Given the description of an element on the screen output the (x, y) to click on. 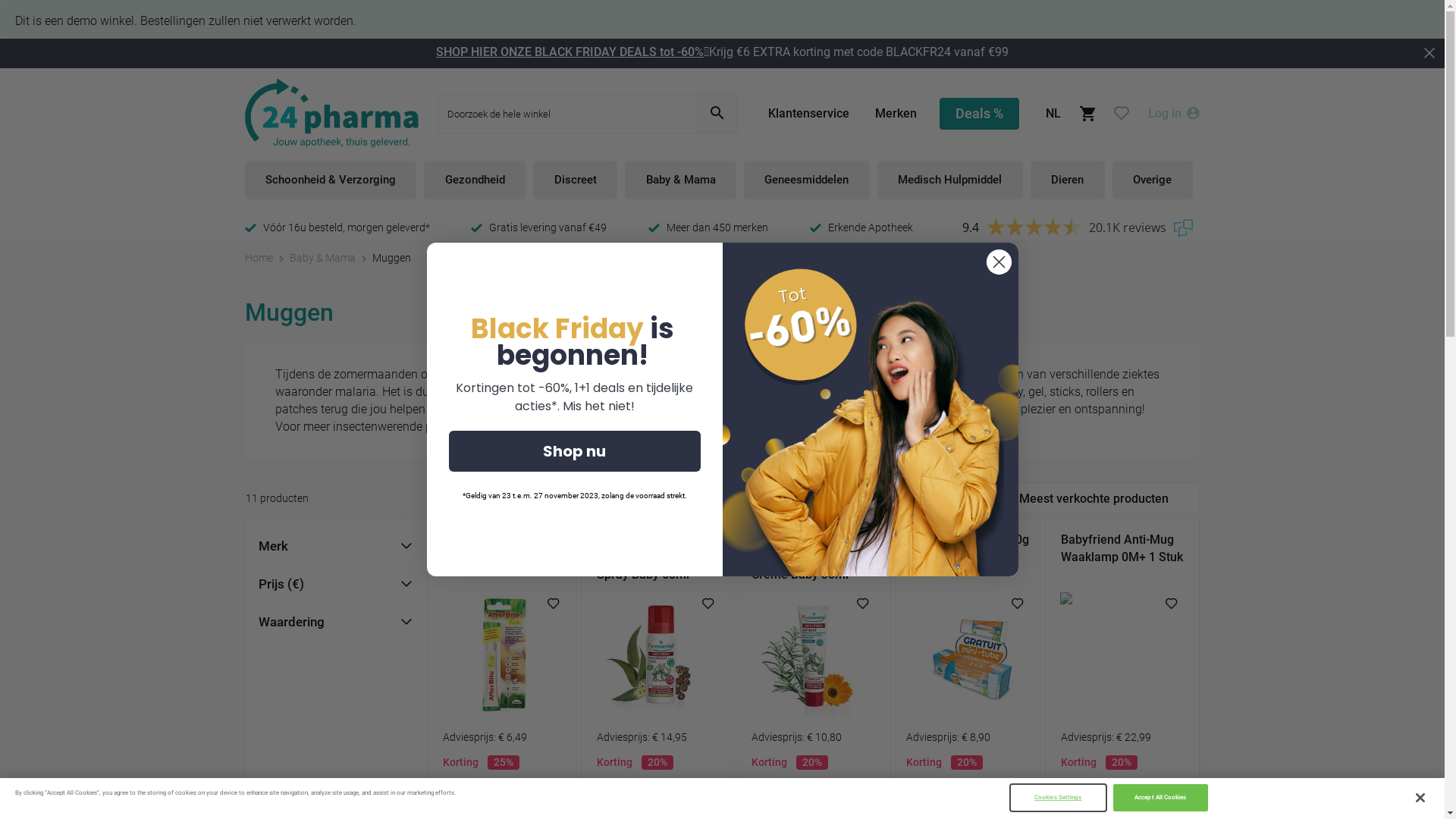
Puressentiel Anti-Beet Insectenwerende Spray Baby 60ml Element type: text (658, 556)
Klantenservice Element type: text (807, 113)
Voeg toe aan verlanglijst Element type: text (862, 602)
Winkelwagen Element type: text (1087, 112)
Baby & Mama Element type: text (680, 179)
Submit Element type: text (21, 7)
Geneesmiddelen Element type: text (806, 179)
insectenwerende pagina Element type: text (610, 426)
Voeg toe aan verlanglijst Element type: text (1171, 602)
Dieren Element type: text (1067, 179)
9.4
20.1K reviews Element type: text (1076, 227)
After Bite Kids Gel 20ml Element type: text (504, 556)
Voeg toe aan verlanglijst Element type: text (708, 602)
Gezondheid Element type: text (474, 179)
Deals % Element type: text (978, 112)
Overige Element type: text (1152, 179)
Baby & Mama Element type: text (322, 257)
Babyfriend Anti-Mug Waaklamp 0M+ 1 Stuk Element type: text (1122, 556)
Voeg toe aan verlanglijst Element type: text (1017, 602)
Verlanglijst Element type: text (1120, 113)
Black Friday Signup Form Image Element type: hover (869, 409)
Zoek Element type: text (717, 112)
Voeg toe aan verlanglijst Element type: text (553, 602)
Medisch Hulpmiddel Element type: text (949, 179)
Home Element type: text (258, 257)
Discreet Element type: text (575, 179)
Accept All Cookies Element type: text (1160, 797)
Merken Element type: text (895, 113)
Shop nu Element type: text (574, 450)
24pharma Online Apotheek Element type: hover (330, 112)
Log in Element type: text (1174, 113)
Schoonheid & Verzorging Element type: text (330, 179)
SHOP HIER ONZE BLACK FRIDAY DEALS tot -60% Element type: text (569, 51)
Cookies Settings Element type: text (1057, 797)
